Given the description of an element on the screen output the (x, y) to click on. 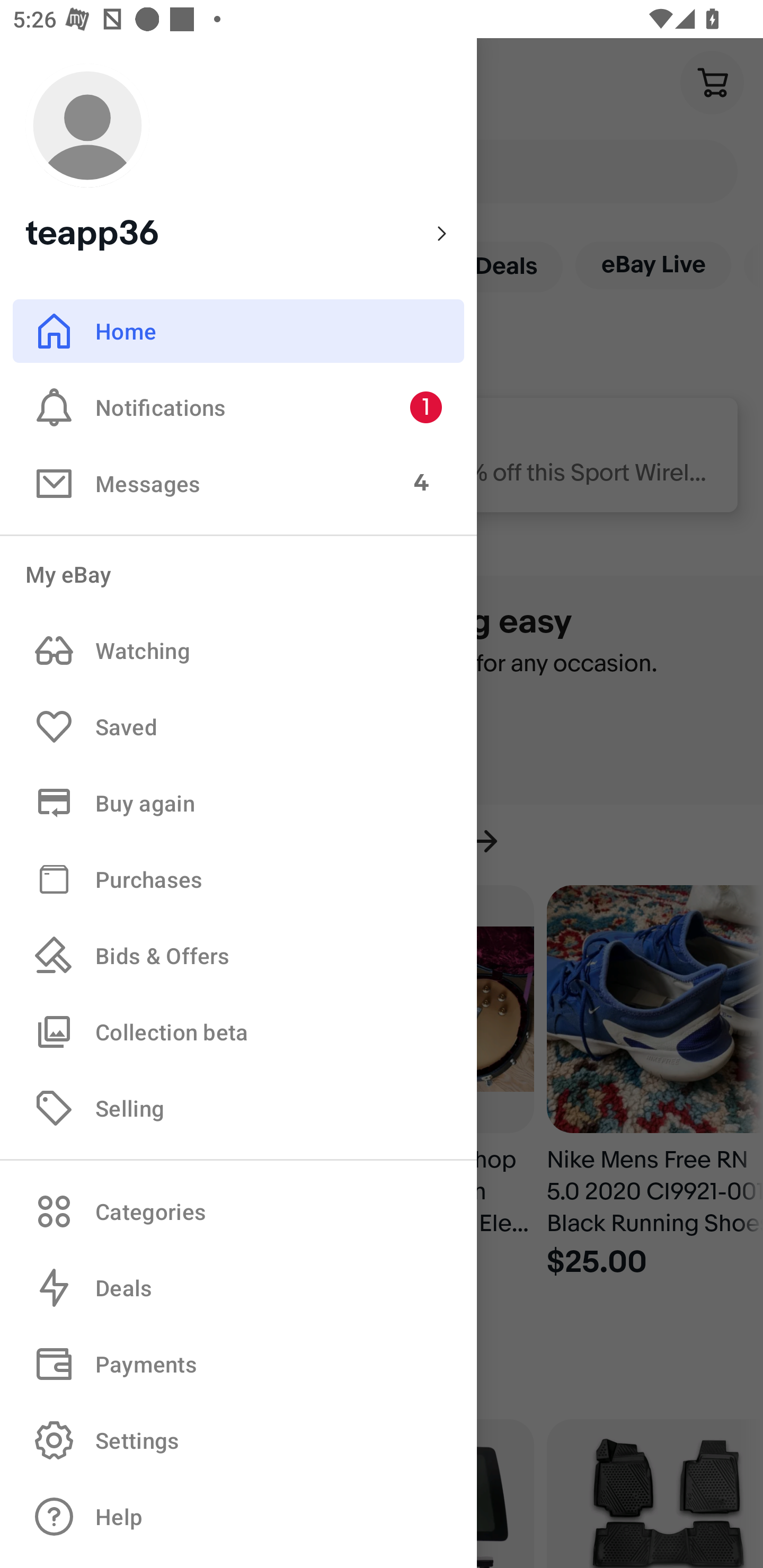
teapp36 (238, 158)
Home (238, 330)
Notifications 1 (238, 406)
Messages 4 (238, 483)
Watching (238, 650)
Saved (238, 726)
Buy again (238, 802)
Purchases (238, 878)
Bids & Offers (238, 955)
Collection beta (238, 1031)
Selling (238, 1107)
Categories (238, 1210)
Deals (238, 1287)
Payments (238, 1363)
Settings (238, 1439)
Help (238, 1516)
